Given the description of an element on the screen output the (x, y) to click on. 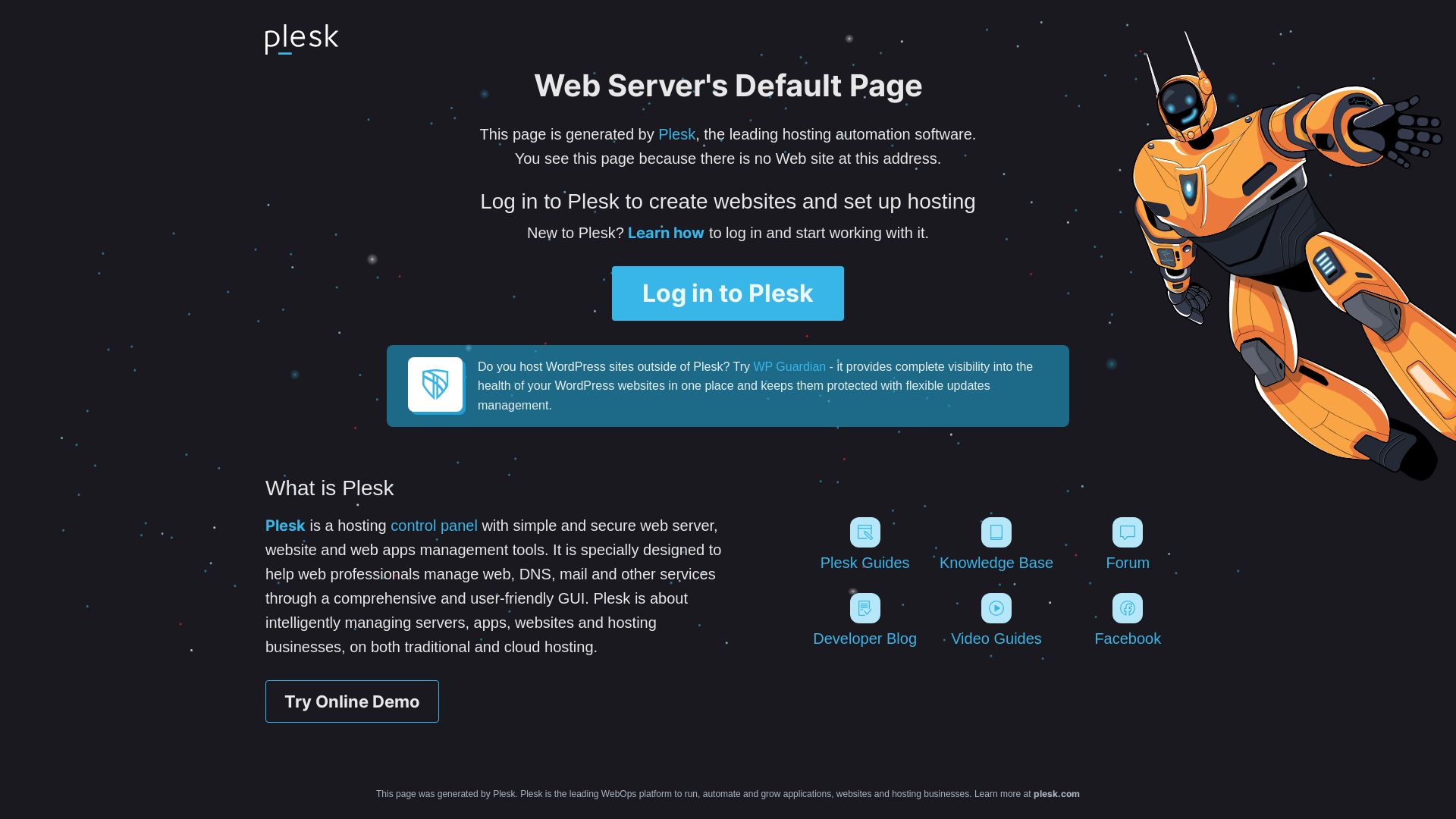
Plesk Element type: text (285, 525)
Try Online Demo Element type: text (352, 701)
Knowledge Base Element type: text (995, 544)
Developer Blog Element type: text (864, 619)
Plesk Element type: text (676, 133)
Forum Element type: text (1127, 544)
Video Guides Element type: text (995, 619)
Log in to Plesk Element type: text (727, 293)
Facebook Element type: text (1127, 619)
control panel Element type: text (433, 525)
plesk.com Element type: text (1056, 793)
Learn how Element type: text (665, 232)
Plesk Guides Element type: text (864, 544)
WP Guardian Element type: text (789, 366)
